Given the description of an element on the screen output the (x, y) to click on. 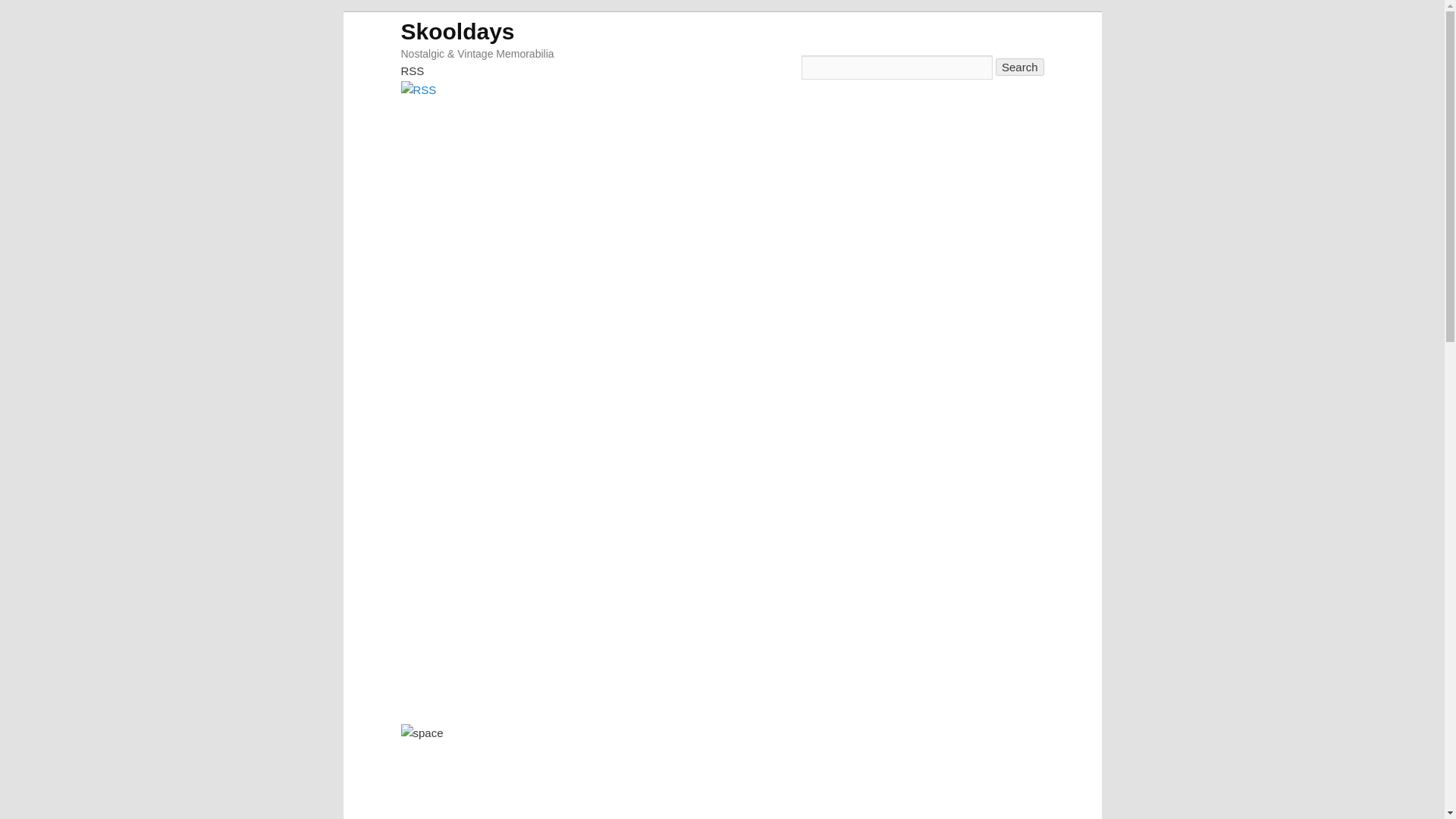
Skooldays (456, 30)
Search (1019, 67)
Search (1019, 67)
Skooldays (456, 30)
